Given the description of an element on the screen output the (x, y) to click on. 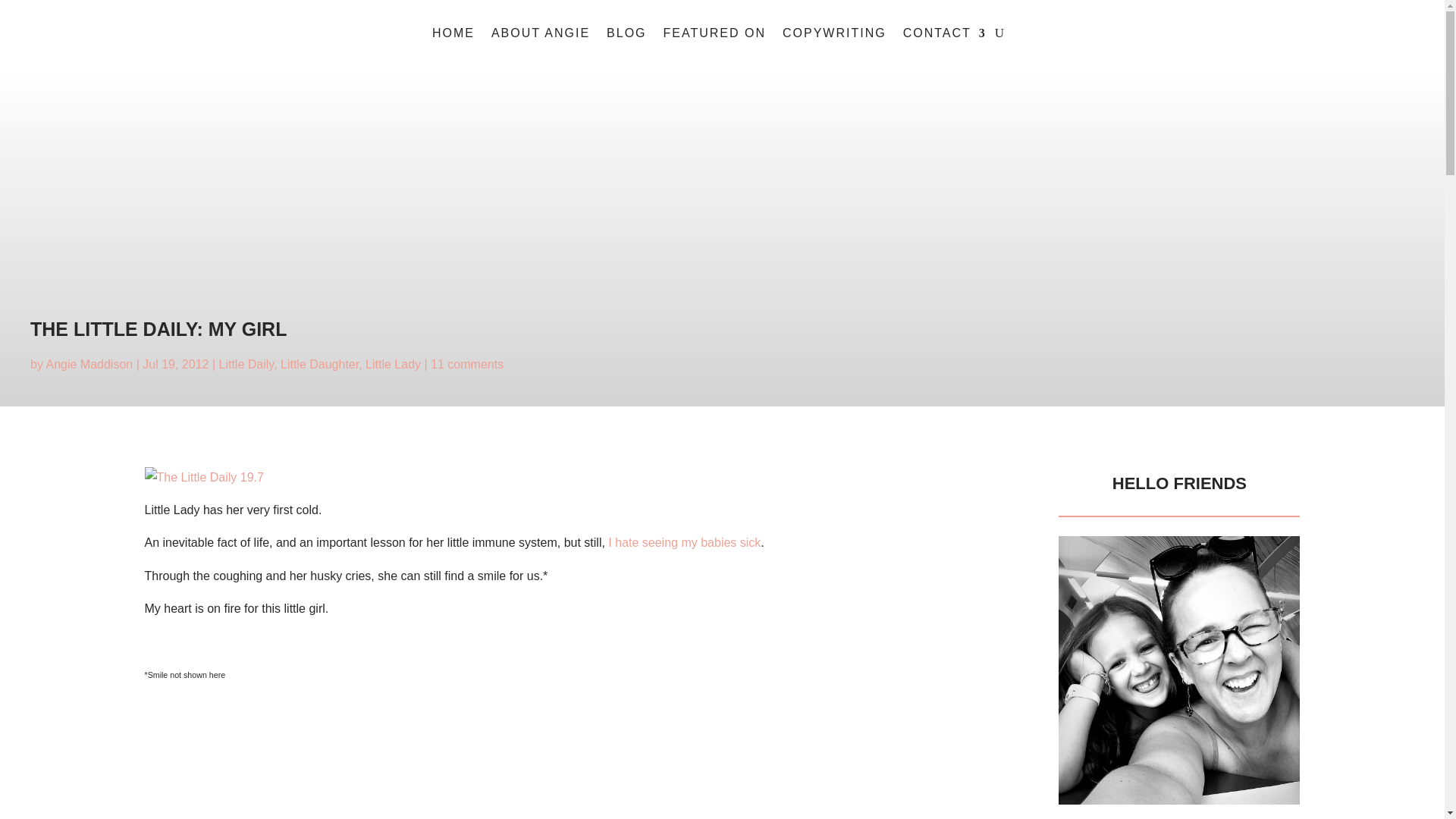
ABOUT ANGIE (540, 36)
FEATURED ON (714, 36)
Little Daughter (319, 364)
advertisement (1179, 670)
The Little Daily 19.7 (569, 476)
Little Daily (245, 364)
I hate seeing my babies sick (684, 542)
Angie Maddison (88, 364)
BLOG (626, 36)
11 comments (466, 364)
HOME (453, 36)
Little Lady (392, 364)
COPYWRITING (834, 36)
CONTACT (944, 36)
Posts by Angie Maddison (88, 364)
